Given the description of an element on the screen output the (x, y) to click on. 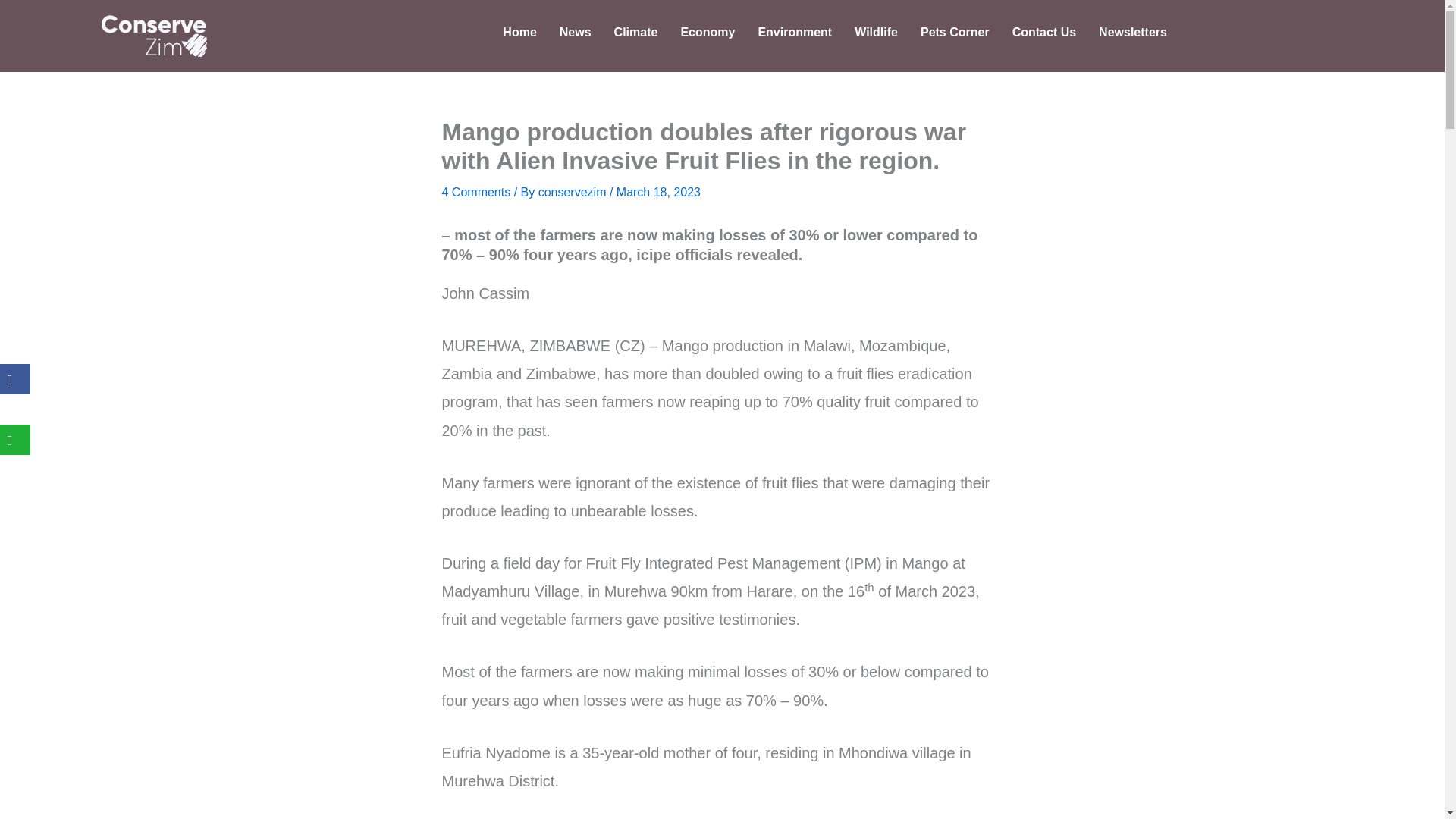
conservezim (574, 192)
Pets Corner (954, 32)
Wildlife (875, 32)
Contact Us (1044, 32)
Environment (794, 32)
Economy (706, 32)
Climate (635, 32)
Newsletters (1132, 32)
News (575, 32)
4 Comments (476, 192)
Home (519, 32)
View all posts by conservezim (574, 192)
